Given the description of an element on the screen output the (x, y) to click on. 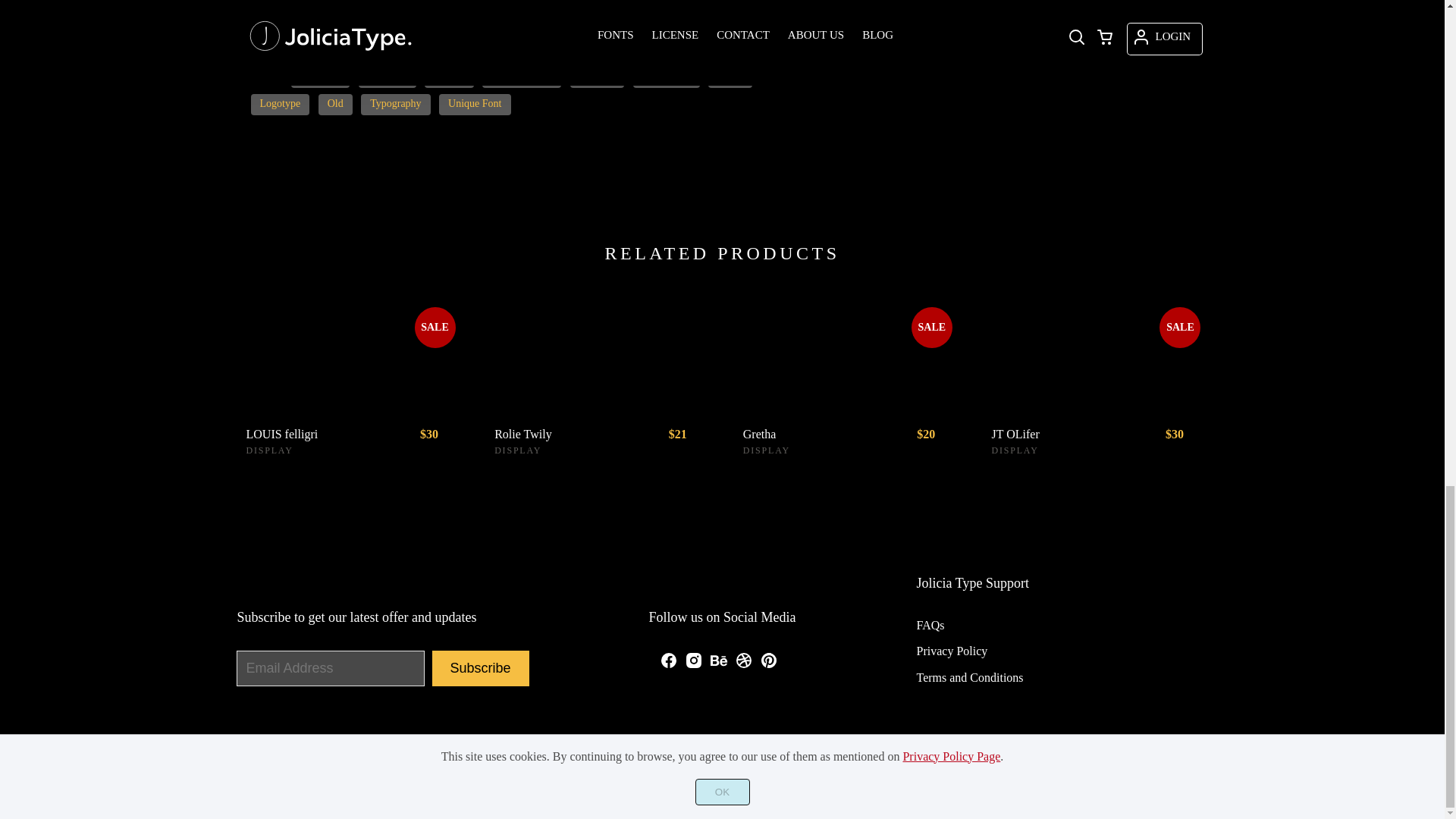
Classic (449, 76)
View all products in Display category (269, 450)
Rolie Twily (597, 356)
Unique Font (475, 104)
Logotype (279, 104)
Old (335, 104)
LOUIS felligri (318, 433)
letters (729, 76)
LOUIS felligri (348, 356)
Iconic Font (666, 76)
